Given the description of an element on the screen output the (x, y) to click on. 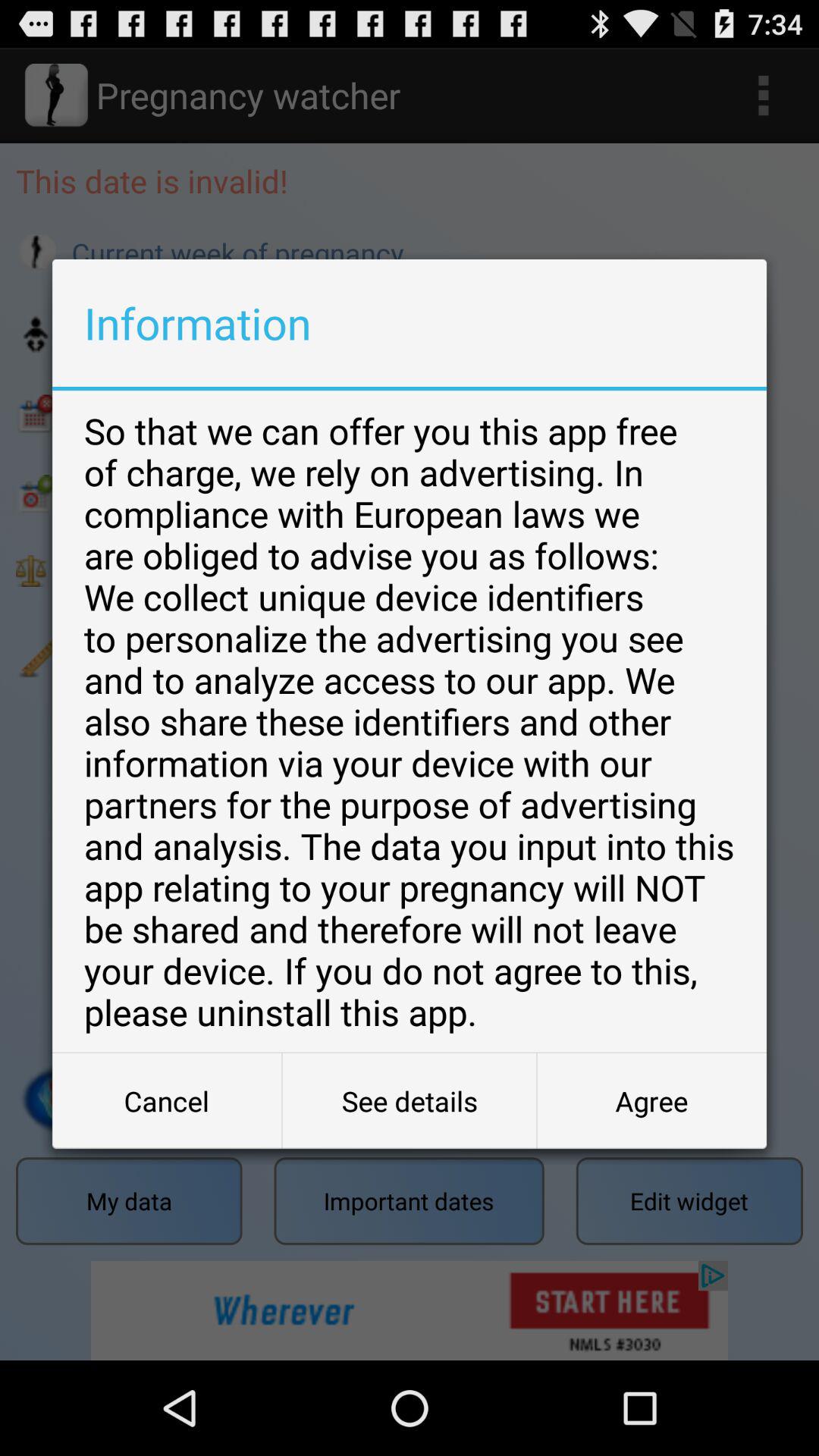
tap the icon next to the see details icon (651, 1100)
